Given the description of an element on the screen output the (x, y) to click on. 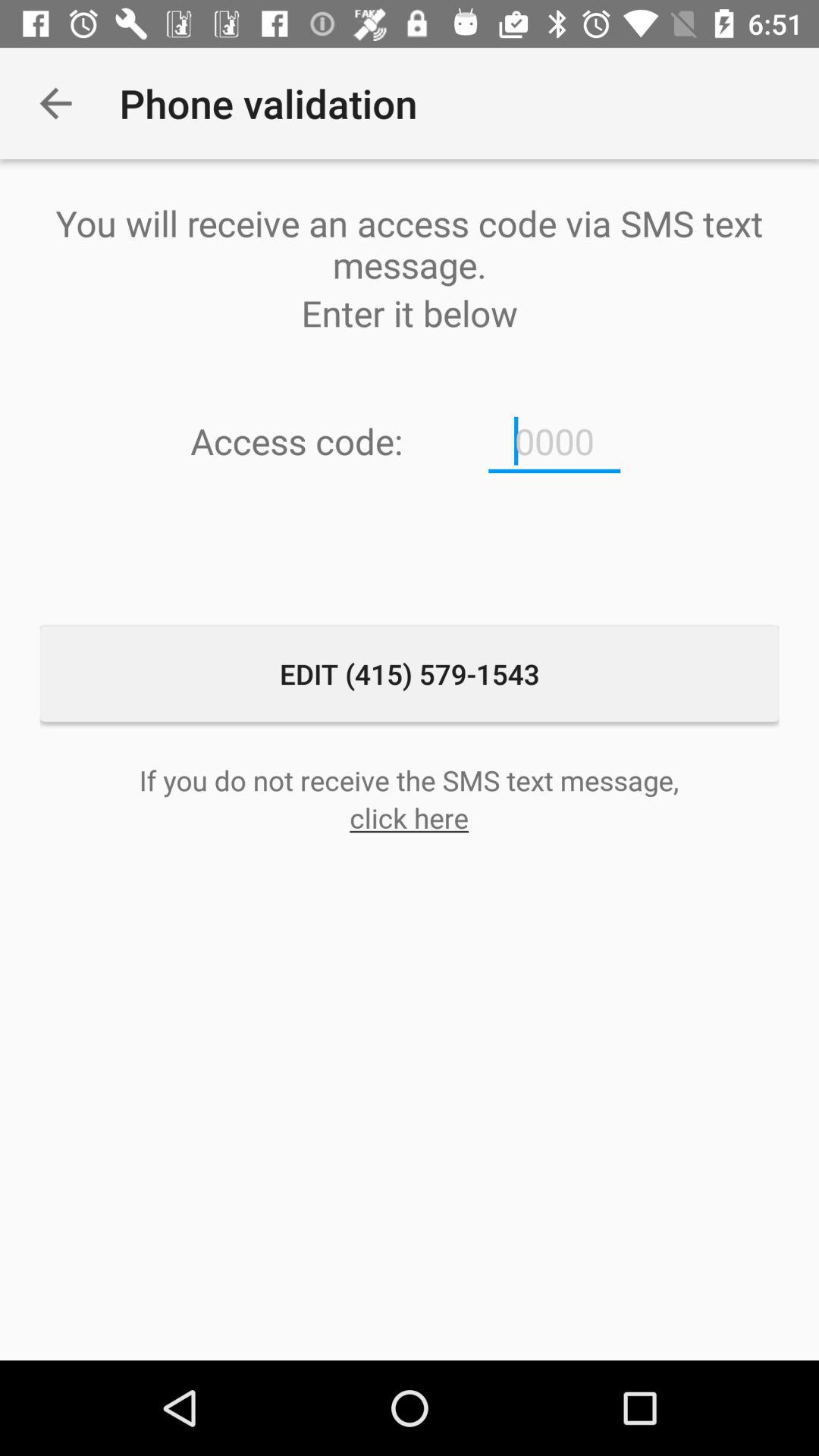
add access code (554, 441)
